Given the description of an element on the screen output the (x, y) to click on. 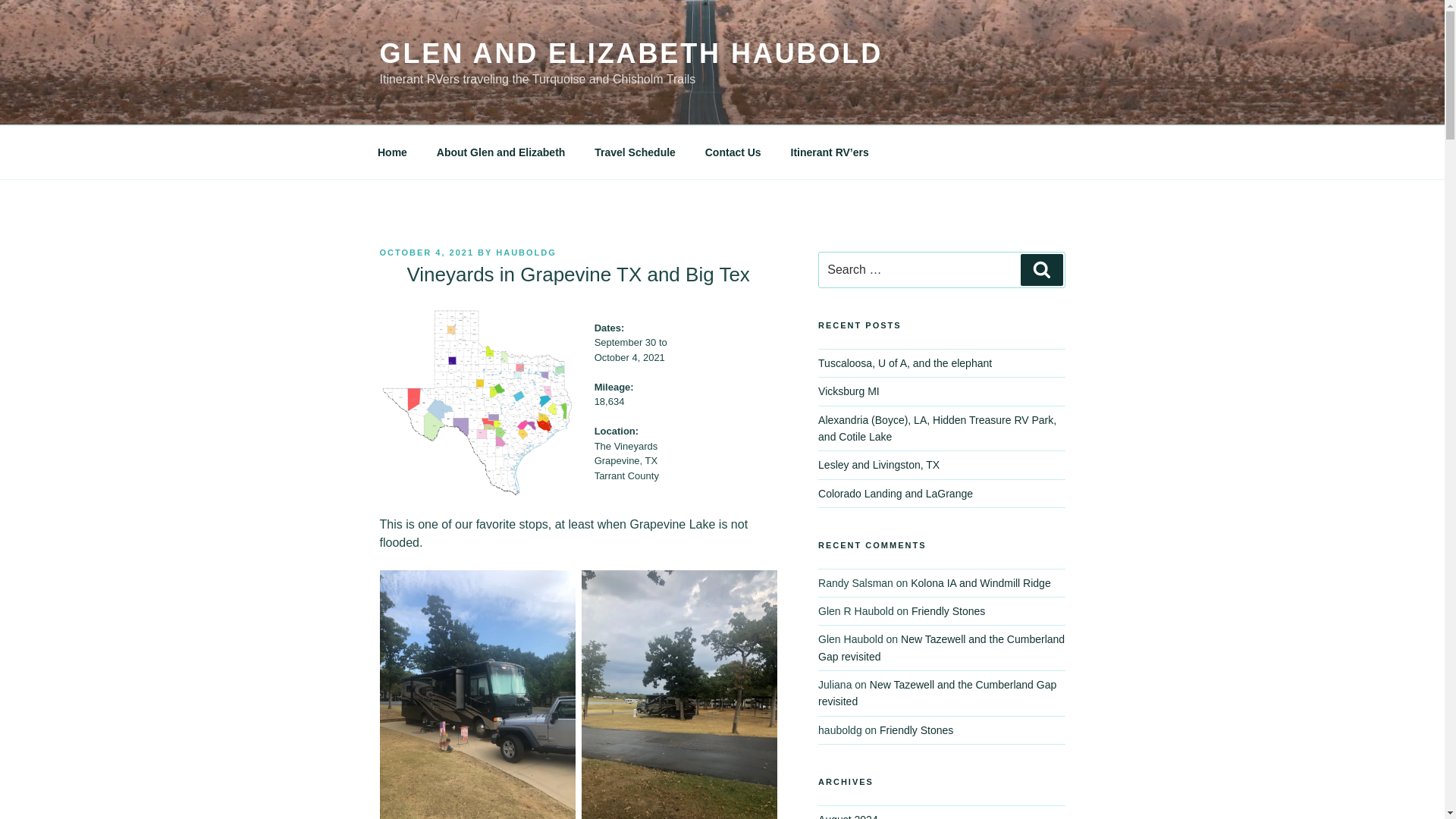
Vicksburg MI (848, 390)
August 2024 (847, 816)
OCTOBER 4, 2021 (426, 252)
Lesley and Livingston, TX (878, 464)
About Glen and Elizabeth (500, 151)
Tuscaloosa, U of A, and the elephant (904, 363)
Colorado Landing and LaGrange (895, 493)
Search (1041, 269)
Travel Schedule (634, 151)
Friendly Stones (916, 729)
